Given the description of an element on the screen output the (x, y) to click on. 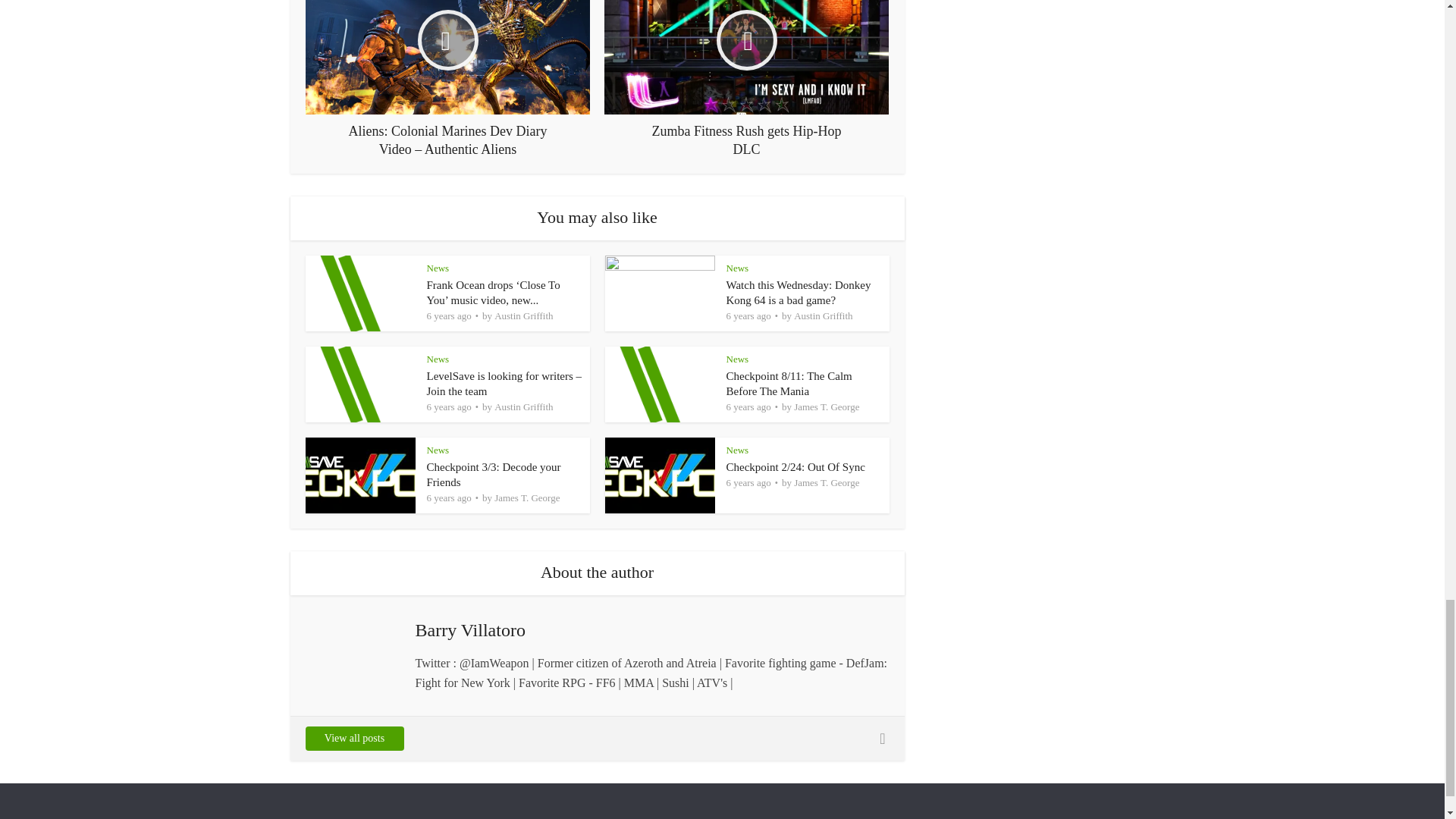
Zumba Fitness Rush gets Hip-Hop DLC (746, 79)
News (737, 267)
News (437, 267)
Watch this Wednesday: Donkey Kong 64 is a bad game? (798, 292)
Austin Griffith (524, 315)
